Given the description of an element on the screen output the (x, y) to click on. 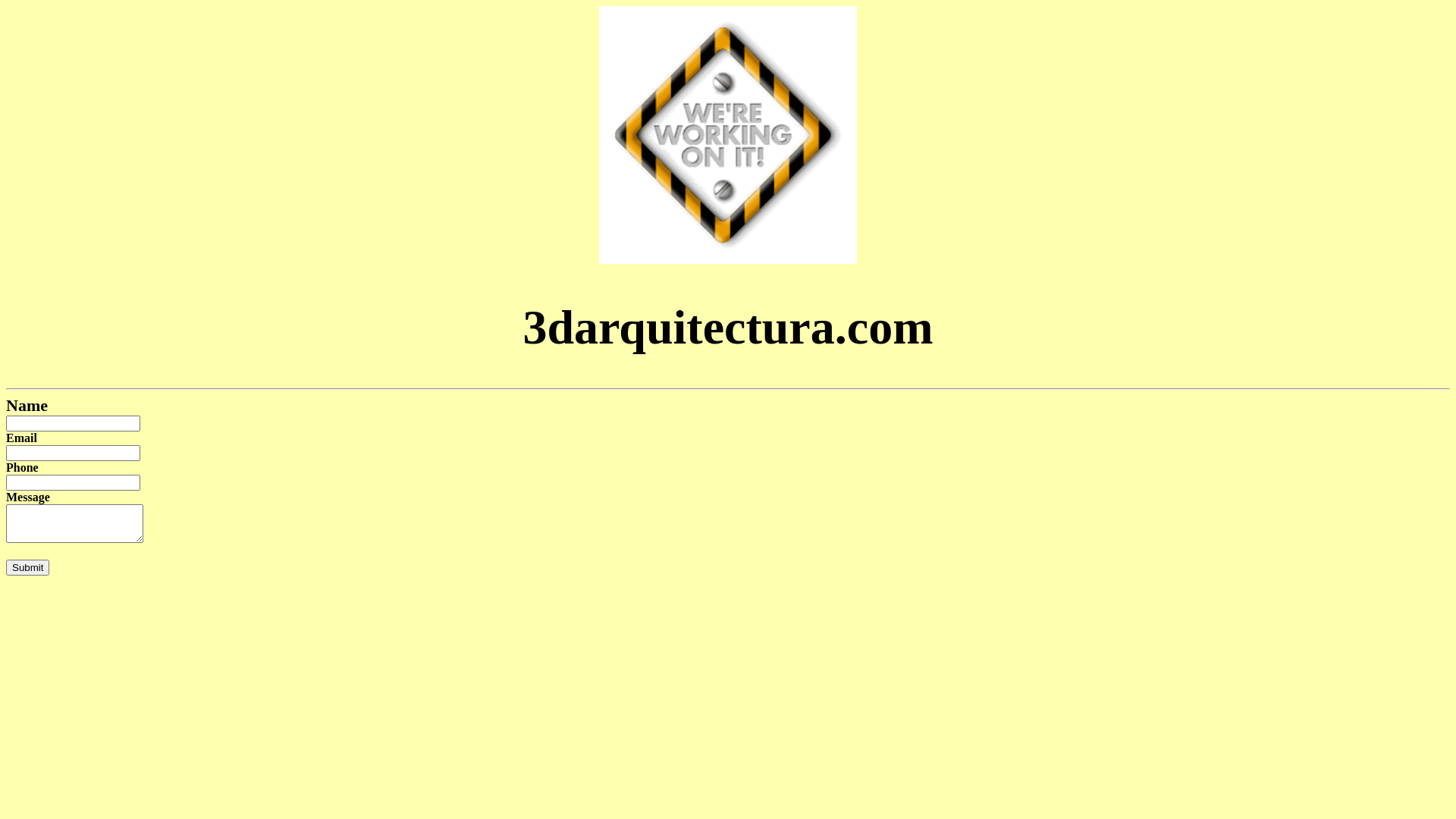
Submit Element type: text (27, 567)
